Given the description of an element on the screen output the (x, y) to click on. 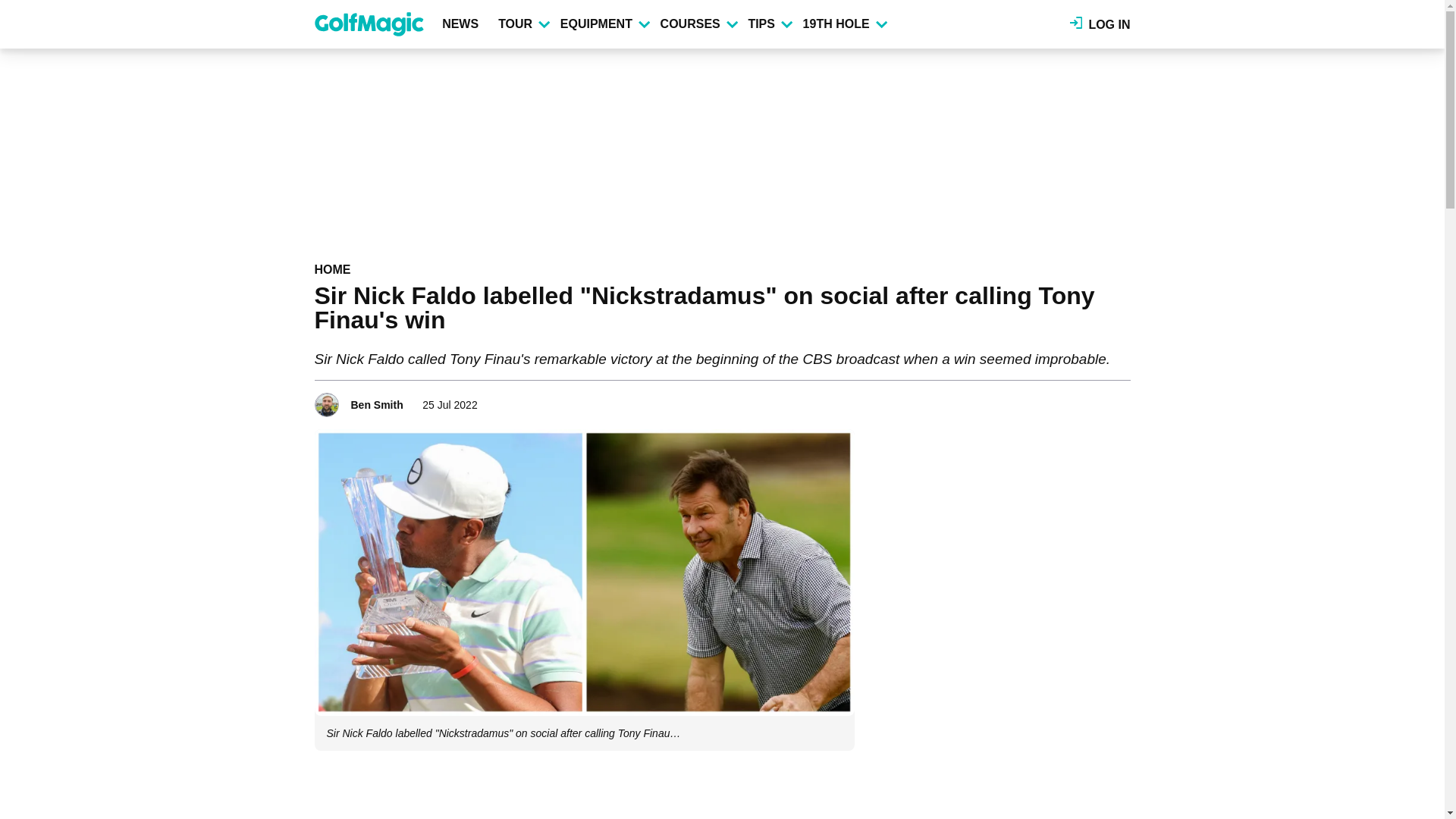
Share to Facebook (1055, 400)
LOG IN (1100, 24)
Share to X (1076, 400)
Share to Linkedin (1097, 400)
TOUR (523, 24)
EQUIPMENT (603, 24)
NEWS (463, 24)
Share to Email (1119, 400)
